Given the description of an element on the screen output the (x, y) to click on. 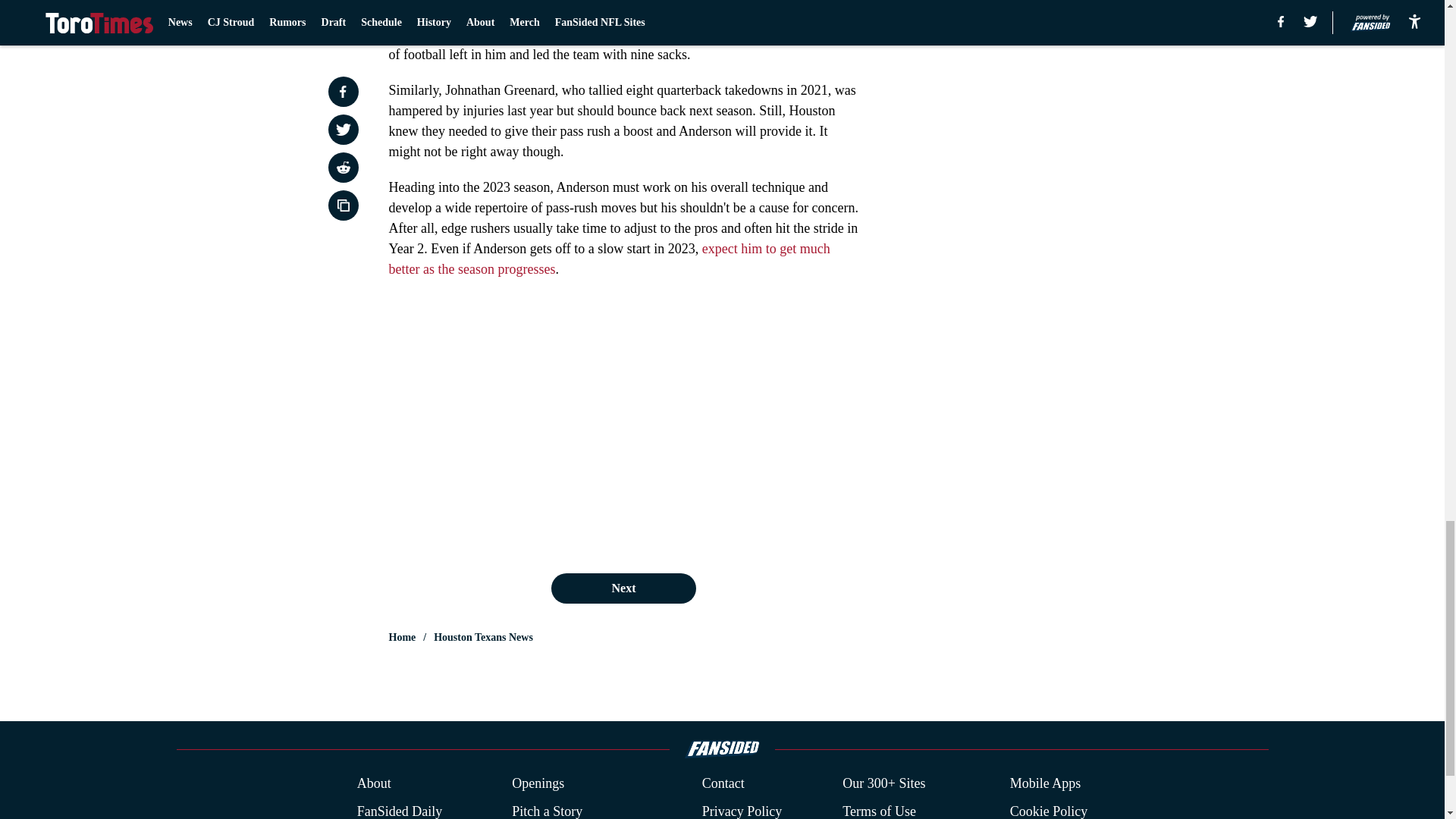
Openings (538, 783)
Home (401, 637)
Terms of Use (879, 810)
Mobile Apps (1045, 783)
expect him to get much better as the season progresses (608, 258)
Houston Texans News (482, 637)
Next (622, 588)
FanSided Daily (399, 810)
About (373, 783)
Privacy Policy (742, 810)
